Given the description of an element on the screen output the (x, y) to click on. 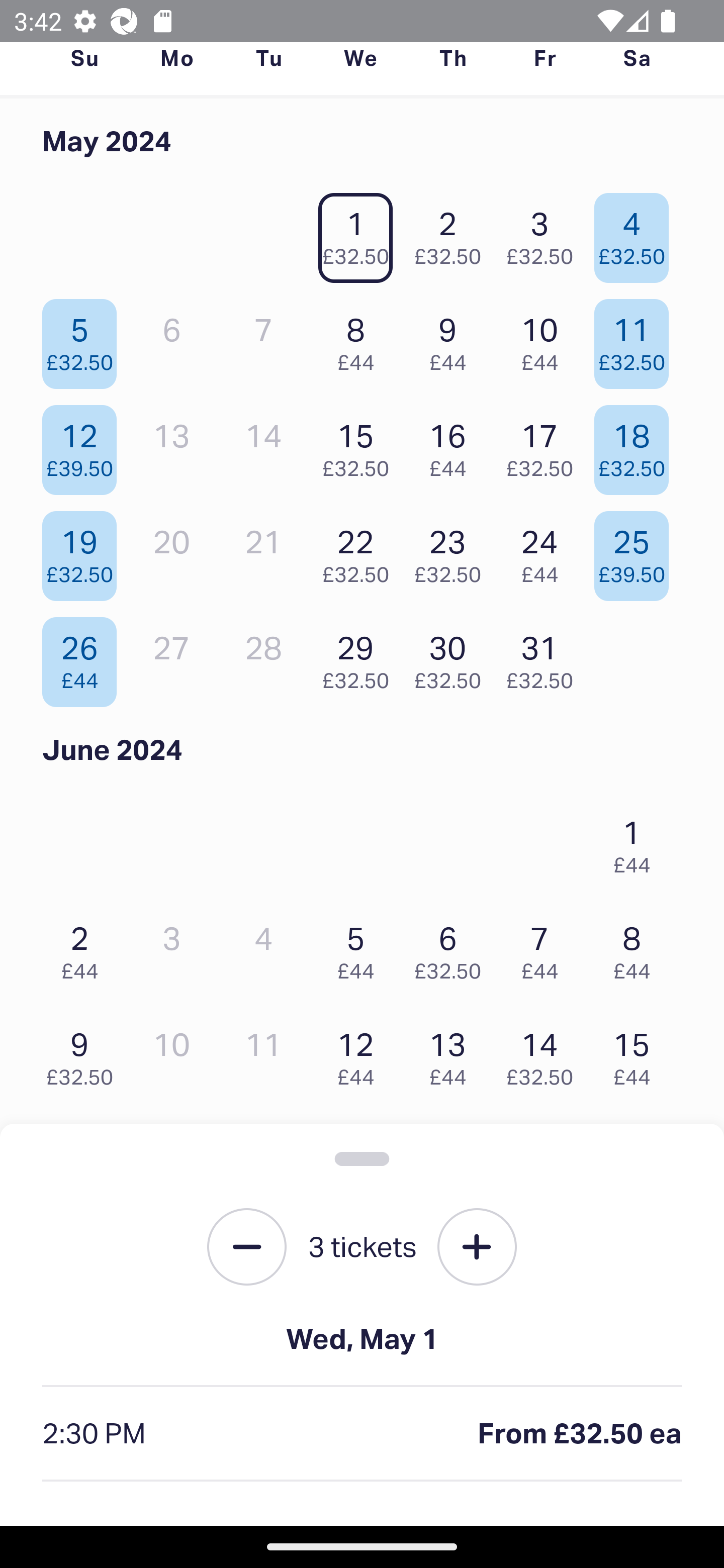
1 £32.50 (360, 232)
2 £32.50 (452, 232)
3 £32.50 (544, 232)
4 £32.50 (636, 232)
5 £32.50 (84, 339)
8 £44 (360, 339)
9 £44 (452, 339)
10 £44 (544, 339)
11 £32.50 (636, 339)
12 £39.50 (84, 445)
15 £32.50 (360, 445)
16 £44 (452, 445)
17 £32.50 (544, 445)
18 £32.50 (636, 445)
19 £32.50 (84, 550)
22 £32.50 (360, 550)
23 £32.50 (452, 550)
24 £44 (544, 550)
25 £39.50 (636, 550)
26 £44 (84, 657)
29 £32.50 (360, 657)
30 £32.50 (452, 657)
31 £32.50 (544, 657)
1 £44 (636, 841)
2 £44 (84, 947)
5 £44 (360, 947)
6 £32.50 (452, 947)
7 £44 (544, 947)
8 £44 (636, 947)
9 £32.50 (84, 1054)
12 £44 (360, 1054)
13 £44 (452, 1054)
14 £32.50 (544, 1054)
15 £44 (636, 1054)
2:30 PM From £32.50 ea (361, 1434)
